Given the description of an element on the screen output the (x, y) to click on. 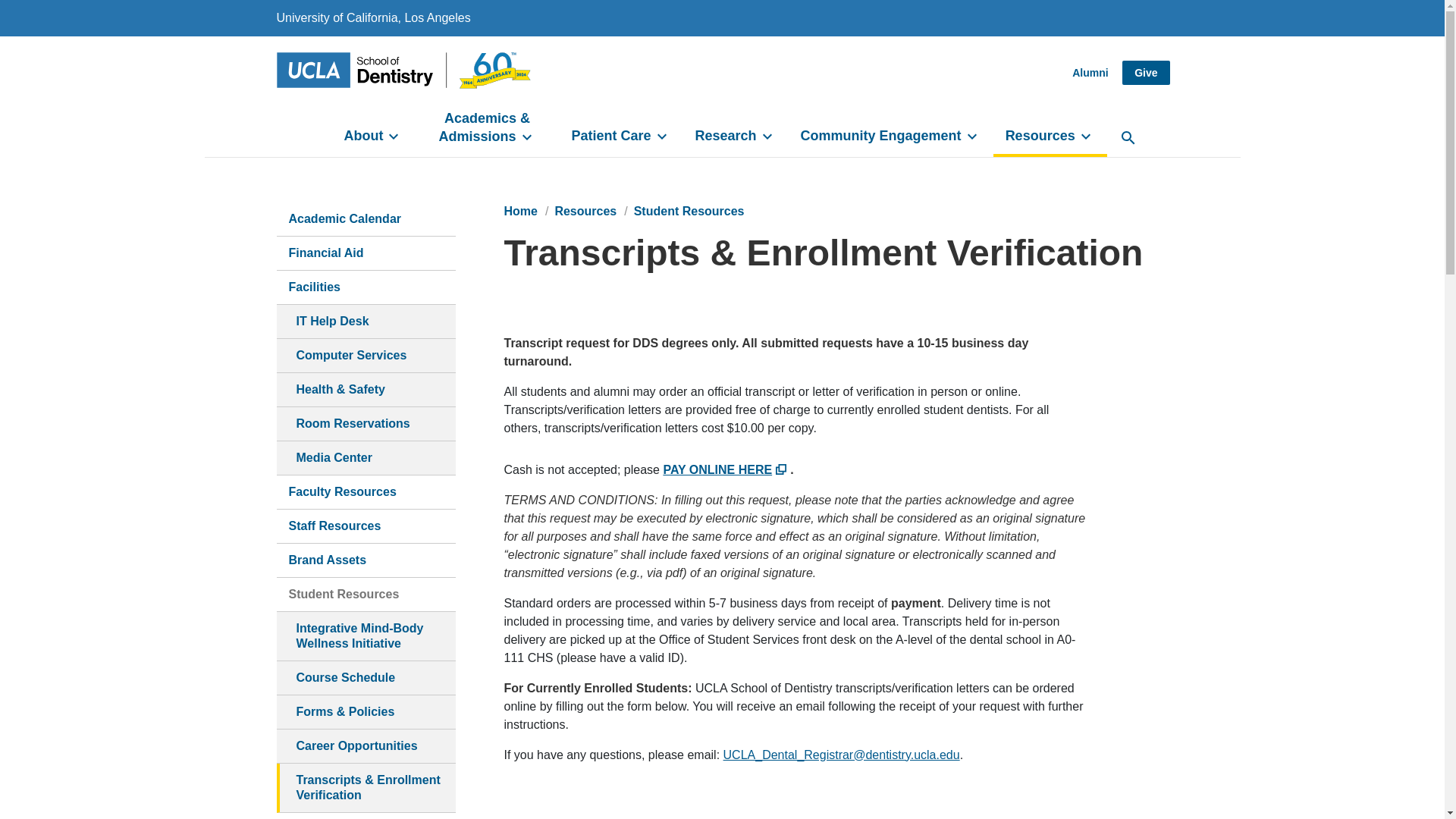
Research (735, 135)
Research (735, 135)
Give (1145, 72)
About (373, 135)
Alumni (1089, 72)
Patient Care (619, 135)
Community Engagement (890, 135)
University of California, Los Angeles (373, 18)
Community Engagement (890, 135)
